Given the description of an element on the screen output the (x, y) to click on. 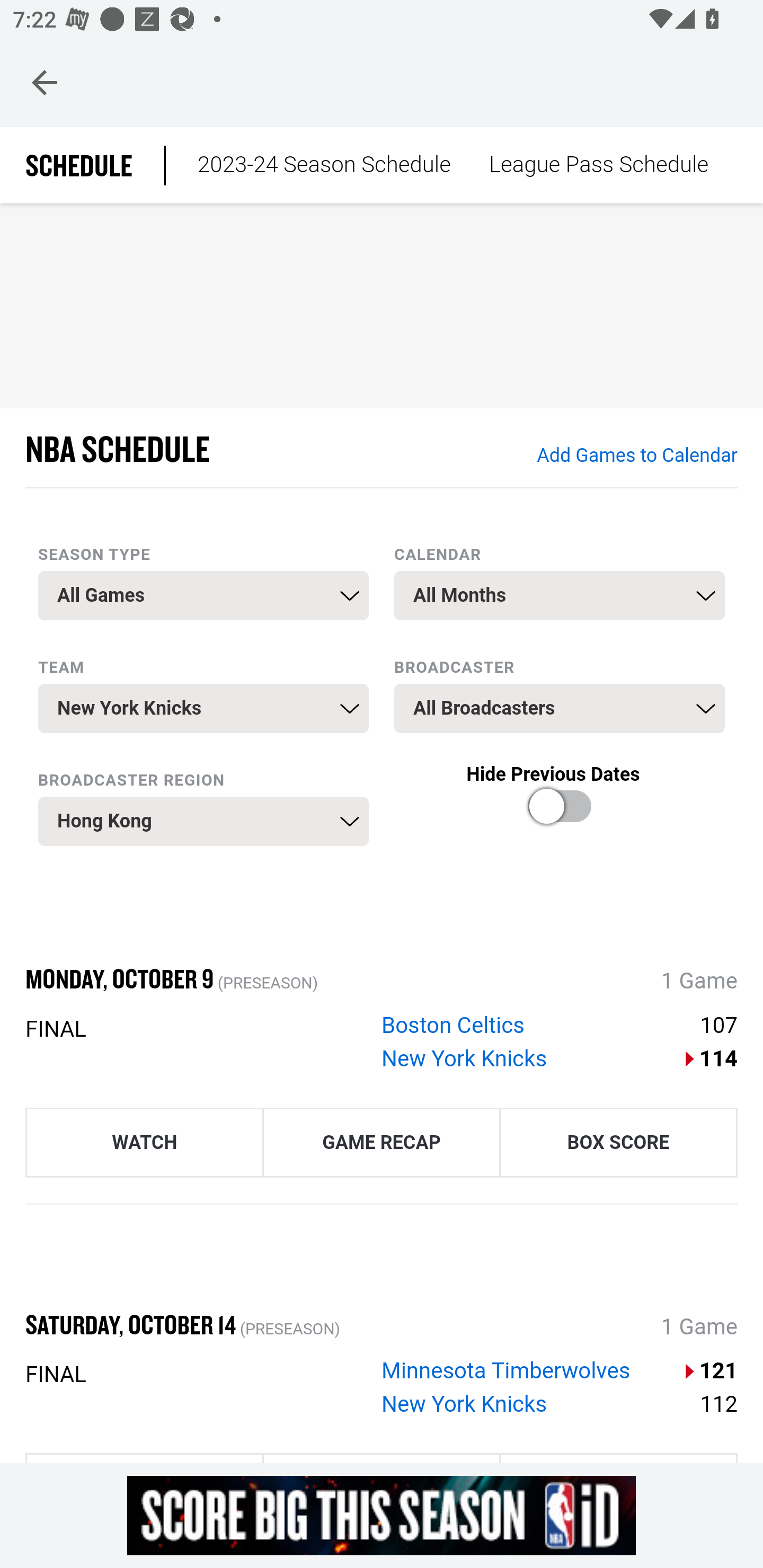
Navigate up (44, 82)
2023-24 Season Schedule (323, 165)
League Pass Schedule (598, 165)
Add Games to Calendar (636, 455)
All Games (203, 595)
All Months (559, 595)
New York Knicks (203, 708)
All Broadcasters (559, 708)
Hong Kong (203, 821)
Boston Celtics (452, 1025)
New York Knicks (464, 1058)
WATCH (144, 1141)
GAME RECAP (381, 1141)
BOX SCORE (618, 1141)
Minnesota Timberwolves (506, 1371)
New York Knicks (464, 1404)
g5nqqygr7owph (381, 1515)
